Given the description of an element on the screen output the (x, y) to click on. 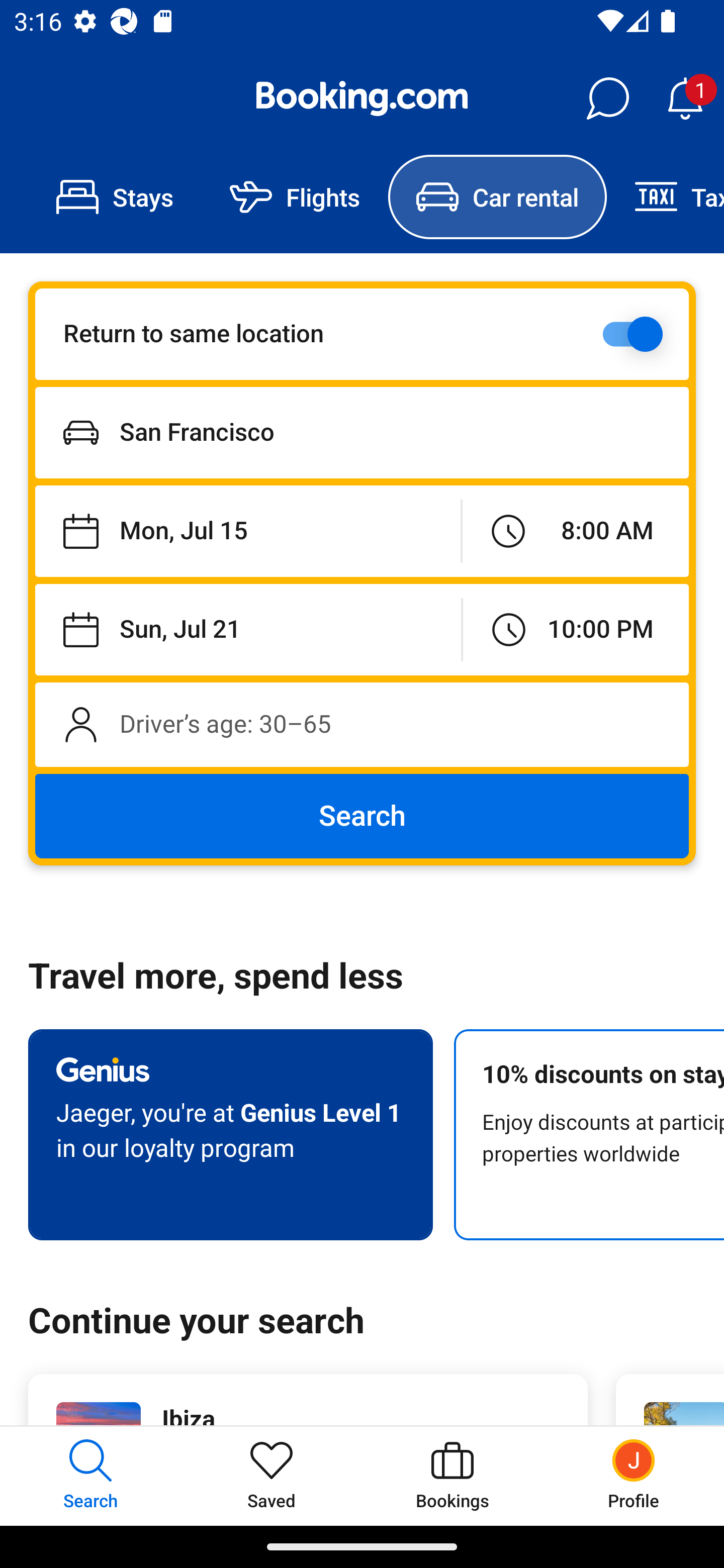
Messages (607, 98)
Notifications (685, 98)
Stays (114, 197)
Flights (294, 197)
Car rental (497, 197)
Taxi (665, 197)
Pick-up location: Text(name=San Francisco) (361, 432)
Pick-up date: 2024-07-15 (247, 531)
Pick-up time: 08:00:00.000 (575, 531)
Drop-off date: 2024-07-21 (248, 629)
Drop-off time: 22:00:00.000 (575, 629)
Enter the driver's age (361, 724)
Search (361, 815)
Saved (271, 1475)
Bookings (452, 1475)
Profile (633, 1475)
